Given the description of an element on the screen output the (x, y) to click on. 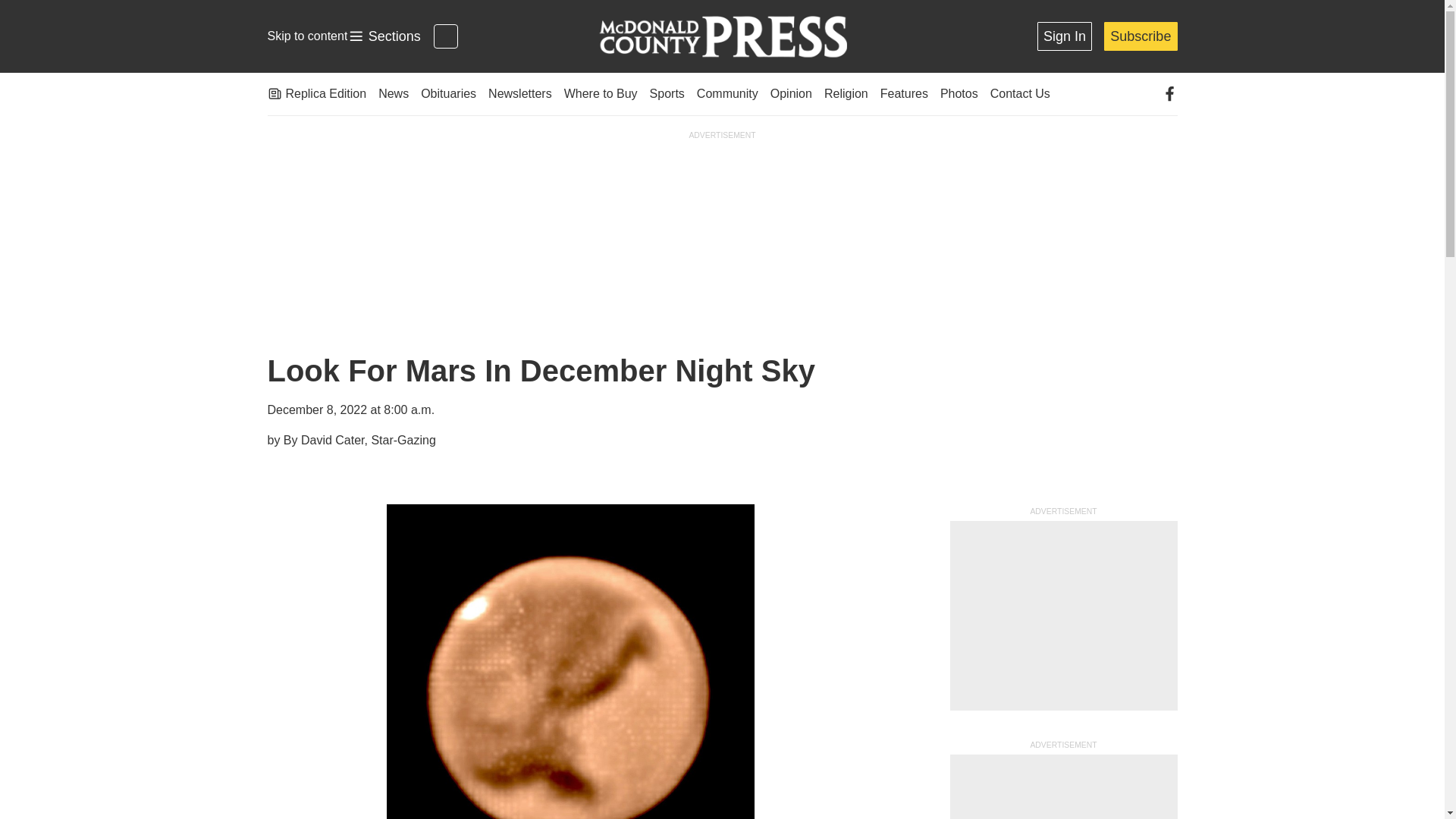
Skip to content (306, 36)
Sign In (1064, 36)
McDonald County Press (383, 36)
